Given the description of an element on the screen output the (x, y) to click on. 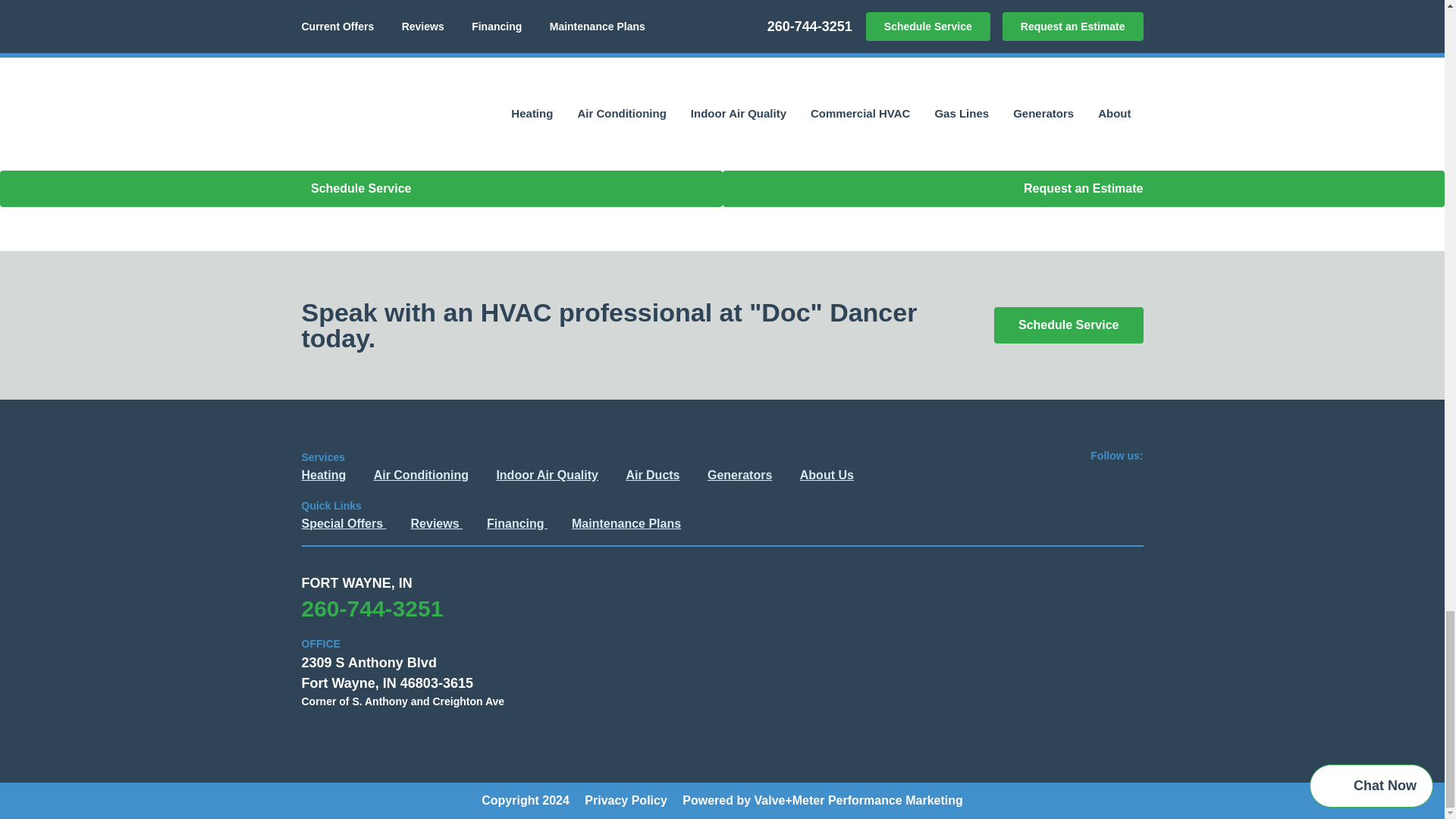
Heating (323, 474)
Air Conditioning (421, 474)
Generators (739, 474)
Financing (516, 522)
Special Offers (344, 522)
Indoor Air Quality (547, 474)
Schedule Service (1068, 325)
About Us (826, 474)
Air Ducts (652, 474)
Reviews (436, 522)
